Given the description of an element on the screen output the (x, y) to click on. 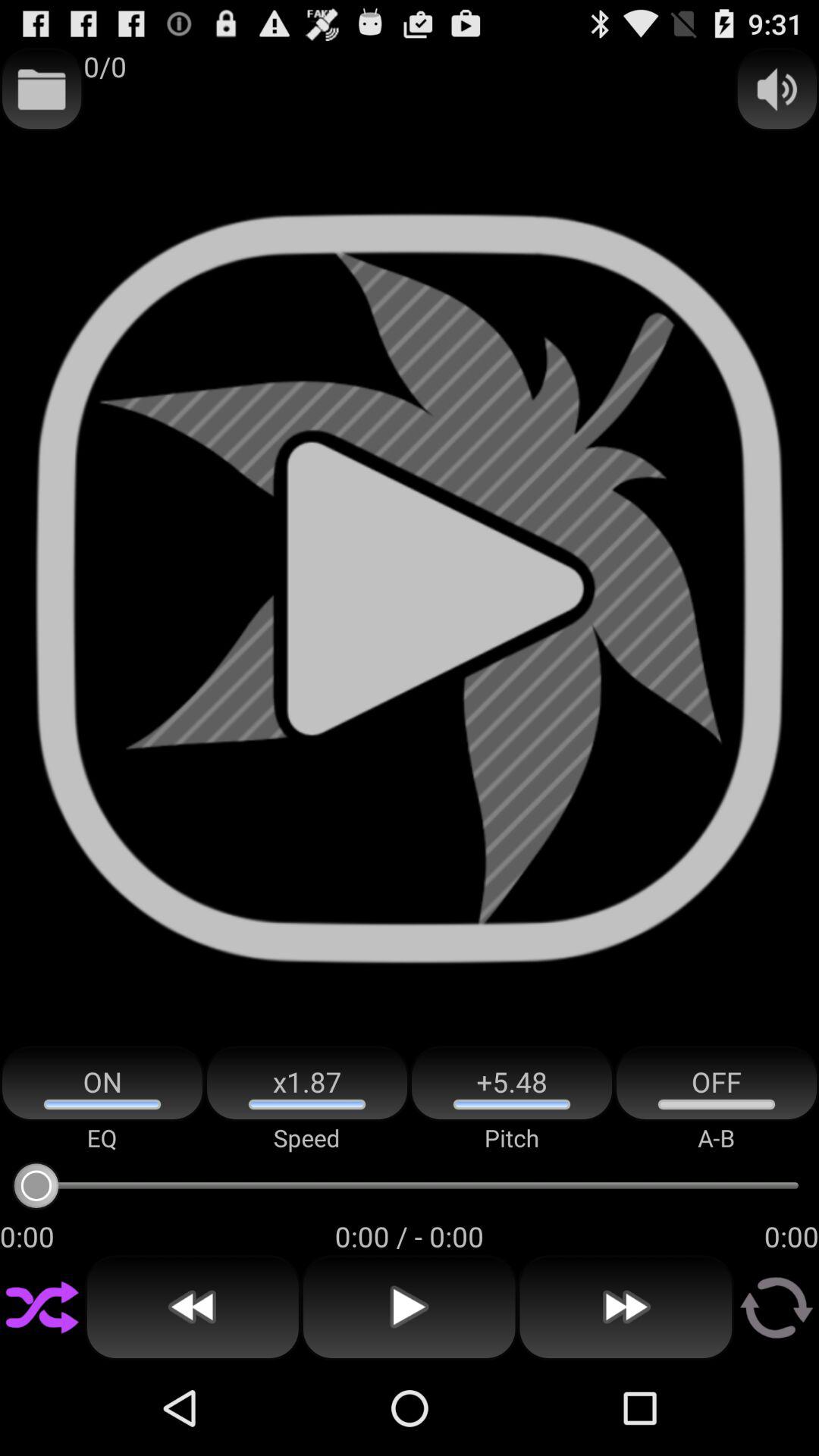
tap the icon to the left of +5.48 (306, 1083)
